Given the description of an element on the screen output the (x, y) to click on. 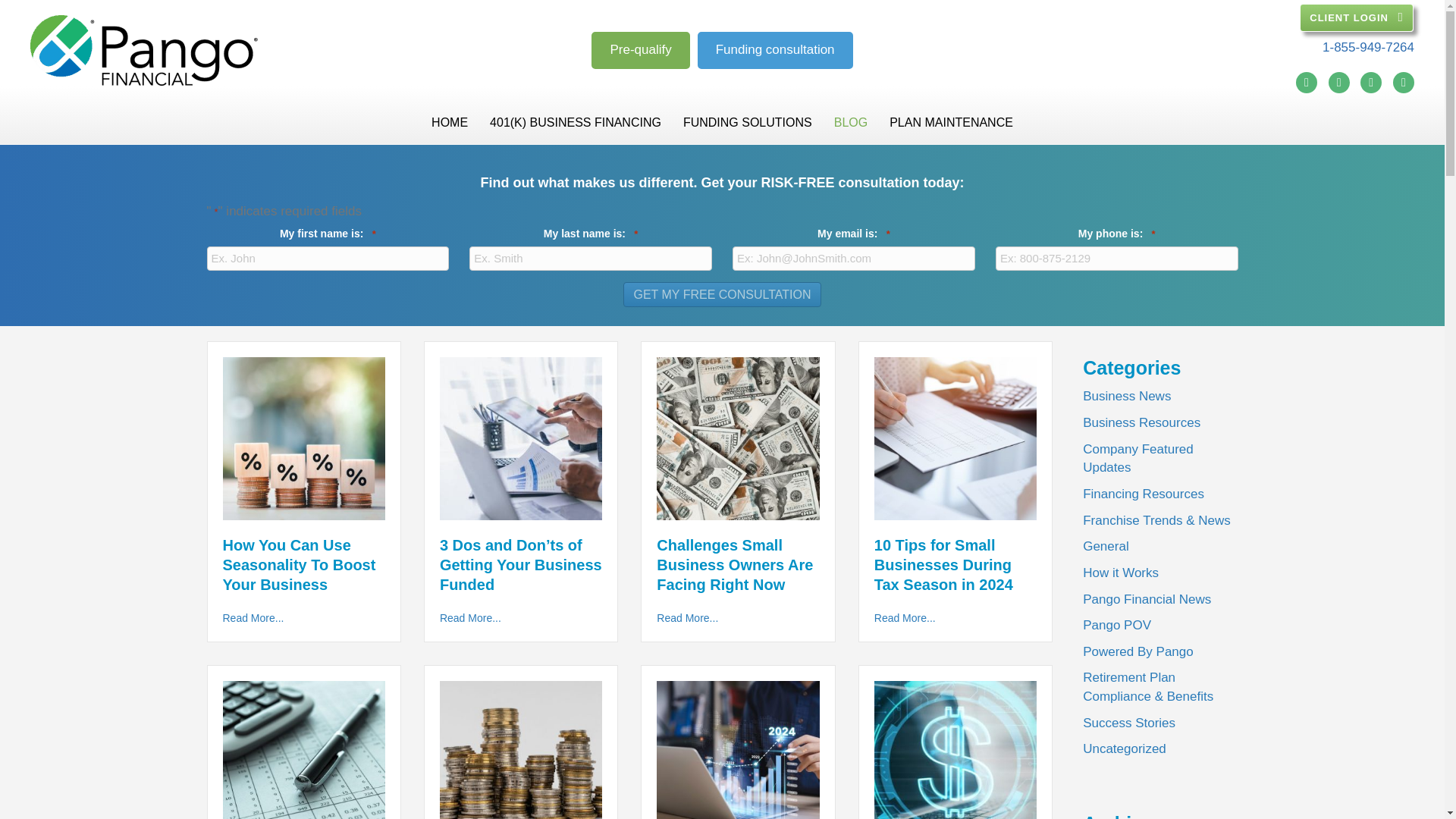
Basic Accounting You Need To Know for Starting a Business (303, 760)
Funding consultation (775, 49)
FUNDING SOLUTIONS (747, 122)
PLAN MAINTENANCE (951, 122)
Challenges Small Business Owners Are Facing Right Now (686, 617)
Challenges Small Business Owners Are Facing Right Now (737, 437)
How You Can Use Seasonality To Boost Your Business (298, 564)
10 Tips for Small Businesses During Tax Season in 2024 (944, 564)
Challenges Small Business Owners Are Facing Right Now (734, 564)
10 Tips for Small Businesses During Tax Season in 2024 (905, 617)
Pango-Logo-Color-registered (143, 50)
HOME (449, 122)
How You Can Use Seasonality To Boost Your Business (303, 437)
10 Tips for Small Businesses During Tax Season in 2024 (955, 437)
Get My Free Consultation (722, 294)
